Given the description of an element on the screen output the (x, y) to click on. 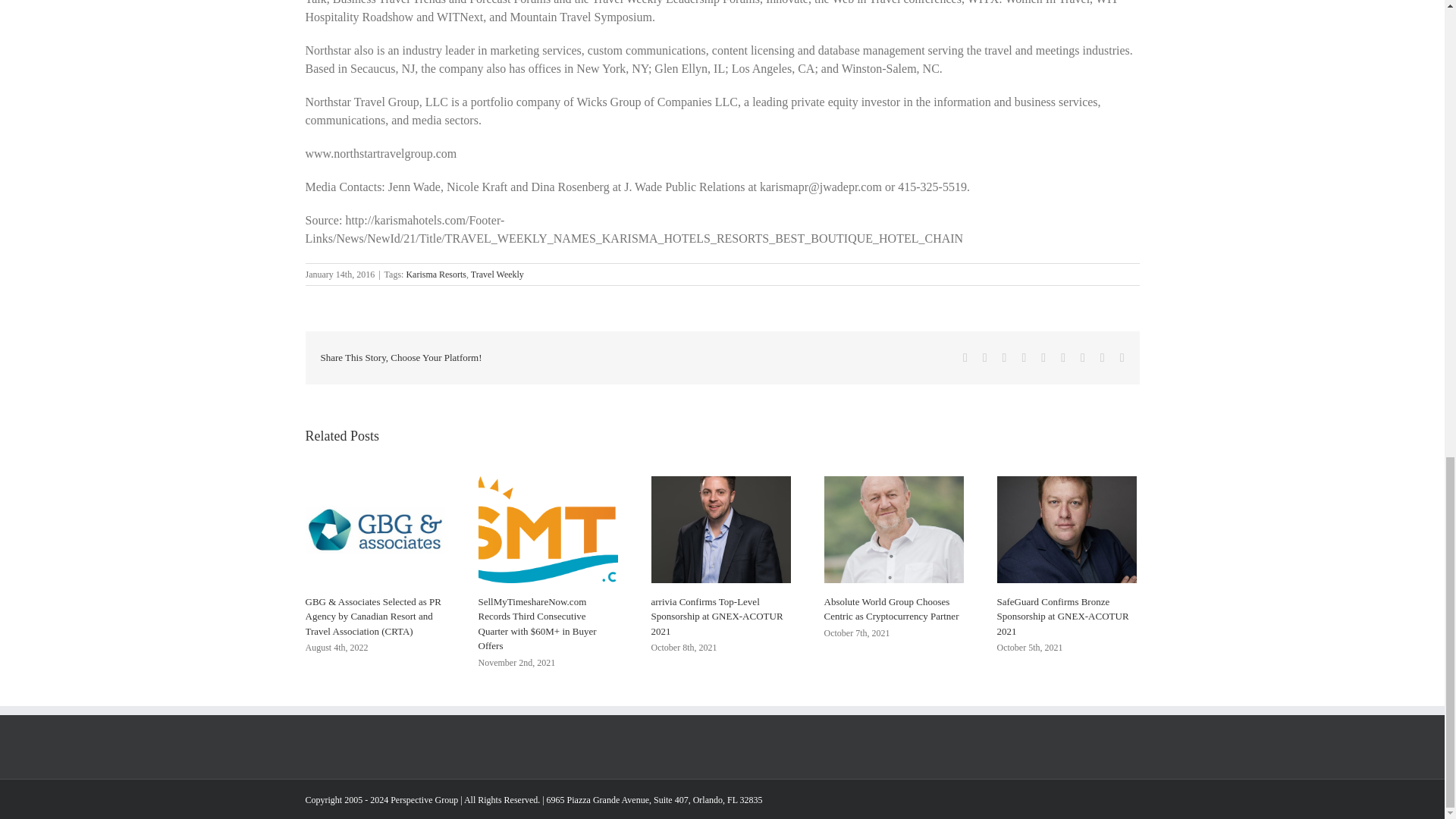
Karisma Resorts (435, 274)
SafeGuard Confirms Bronze Sponsorship at GNEX-ACOTUR 2021 (1061, 616)
SafeGuard Confirms Bronze Sponsorship at GNEX-ACOTUR 2021 (1061, 616)
Travel Weekly (497, 274)
arrivia Confirms Top-Level Sponsorship at GNEX-ACOTUR 2021 (716, 616)
arrivia Confirms Top-Level Sponsorship at GNEX-ACOTUR 2021 (716, 616)
